Given the description of an element on the screen output the (x, y) to click on. 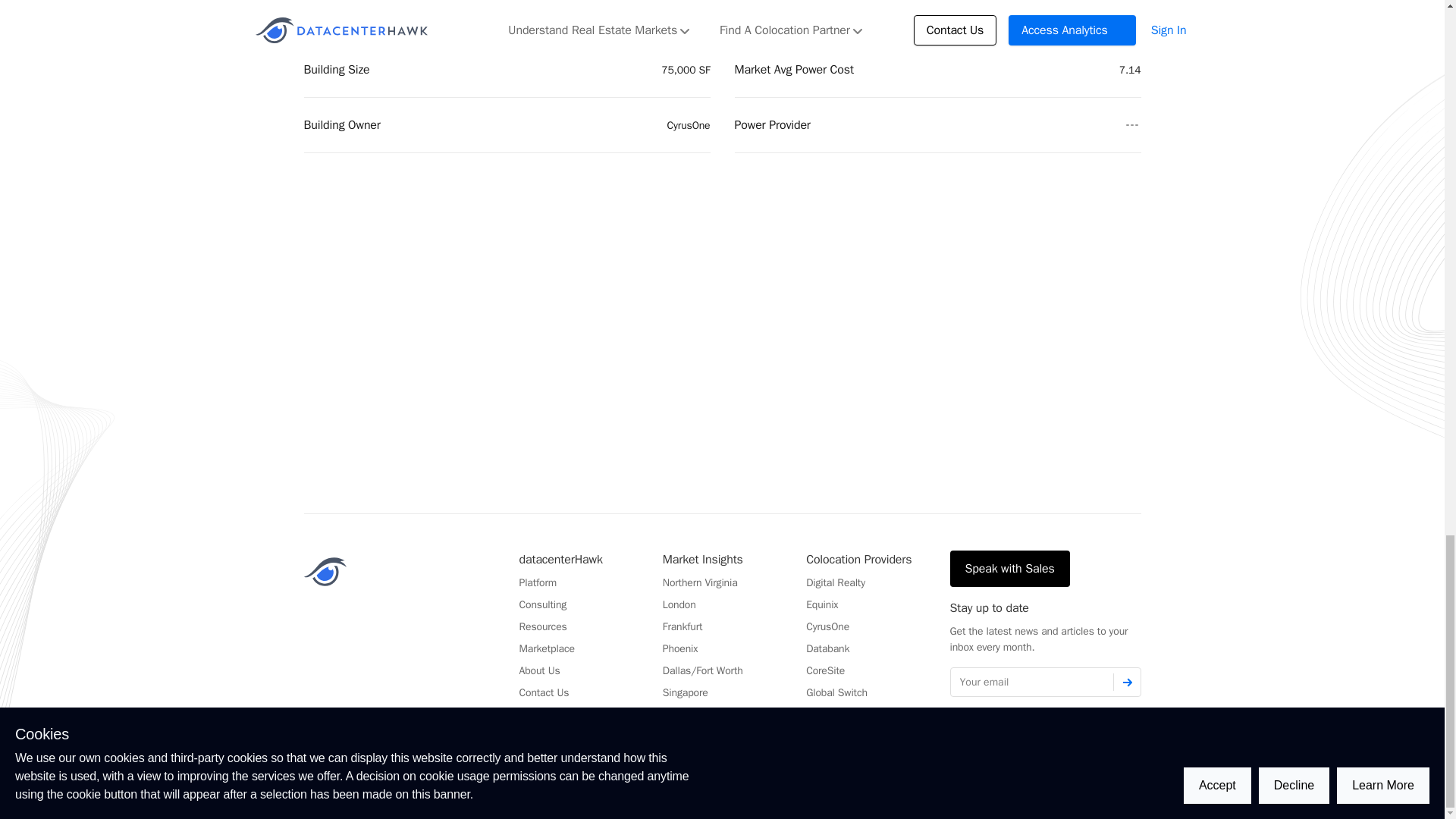
Consulting (542, 604)
Marketplace (545, 648)
About Us (538, 670)
Resources (542, 626)
Northern Virginia (700, 582)
London (678, 604)
Platform (537, 582)
